Given the description of an element on the screen output the (x, y) to click on. 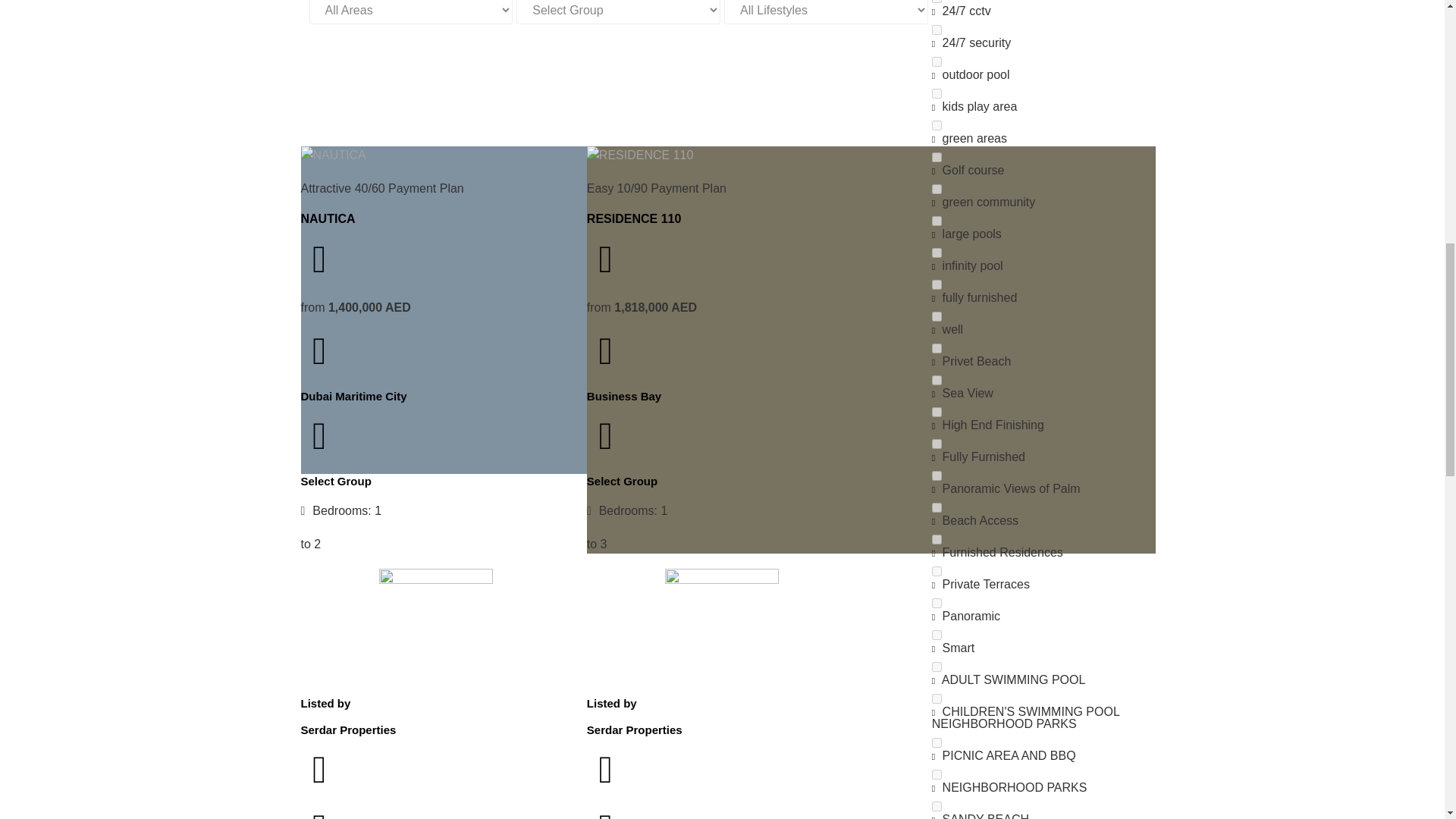
well (936, 316)
outdoor pool (936, 61)
infinity pool (936, 252)
kids play area (936, 93)
fully furnished (936, 284)
large pools (936, 221)
Golf course (936, 157)
green areas (936, 125)
green community (936, 189)
Sea View (936, 379)
High End Finishing (936, 411)
Beach Access (936, 507)
Panoramic Views of Palm (936, 475)
Fully Furnished  (936, 443)
Privet Beach (936, 347)
